Given the description of an element on the screen output the (x, y) to click on. 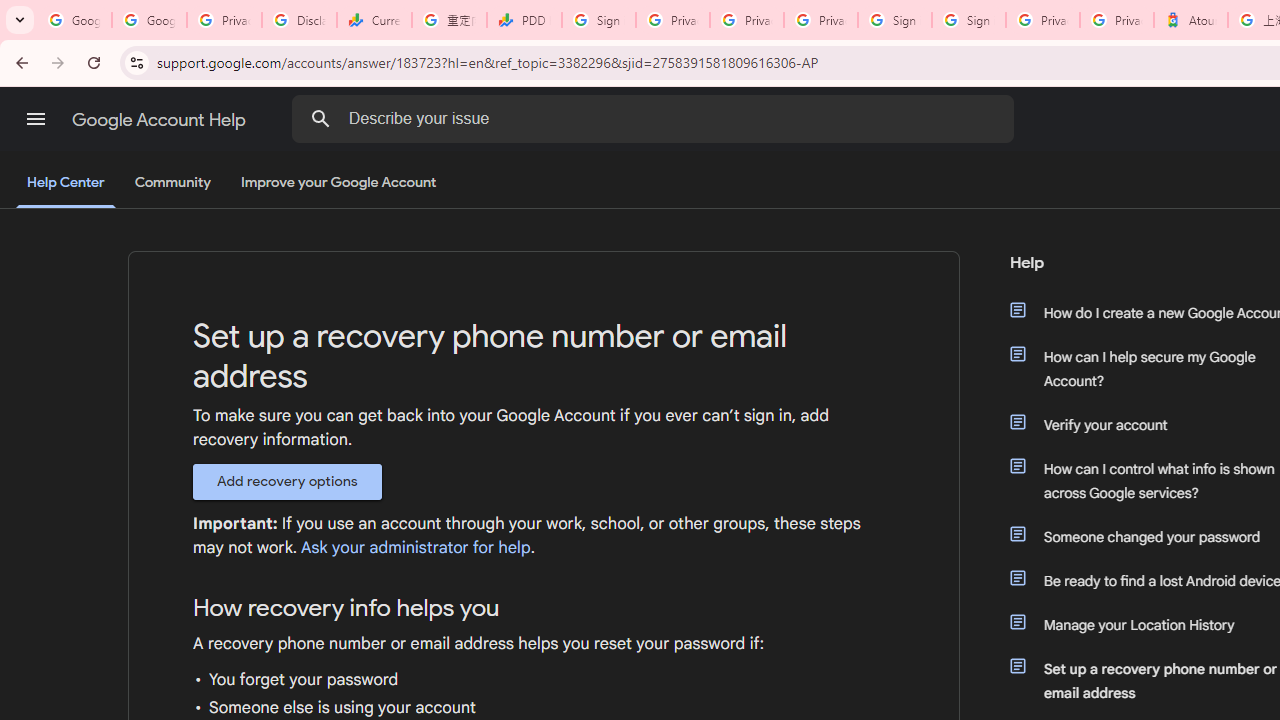
Google Account Help (160, 119)
Ask your administrator for help (415, 547)
Sign in - Google Accounts (894, 20)
Main menu (35, 119)
Currencies - Google Finance (374, 20)
Add recovery options (287, 481)
Sign in - Google Accounts (598, 20)
Privacy Checkup (820, 20)
